Given the description of an element on the screen output the (x, y) to click on. 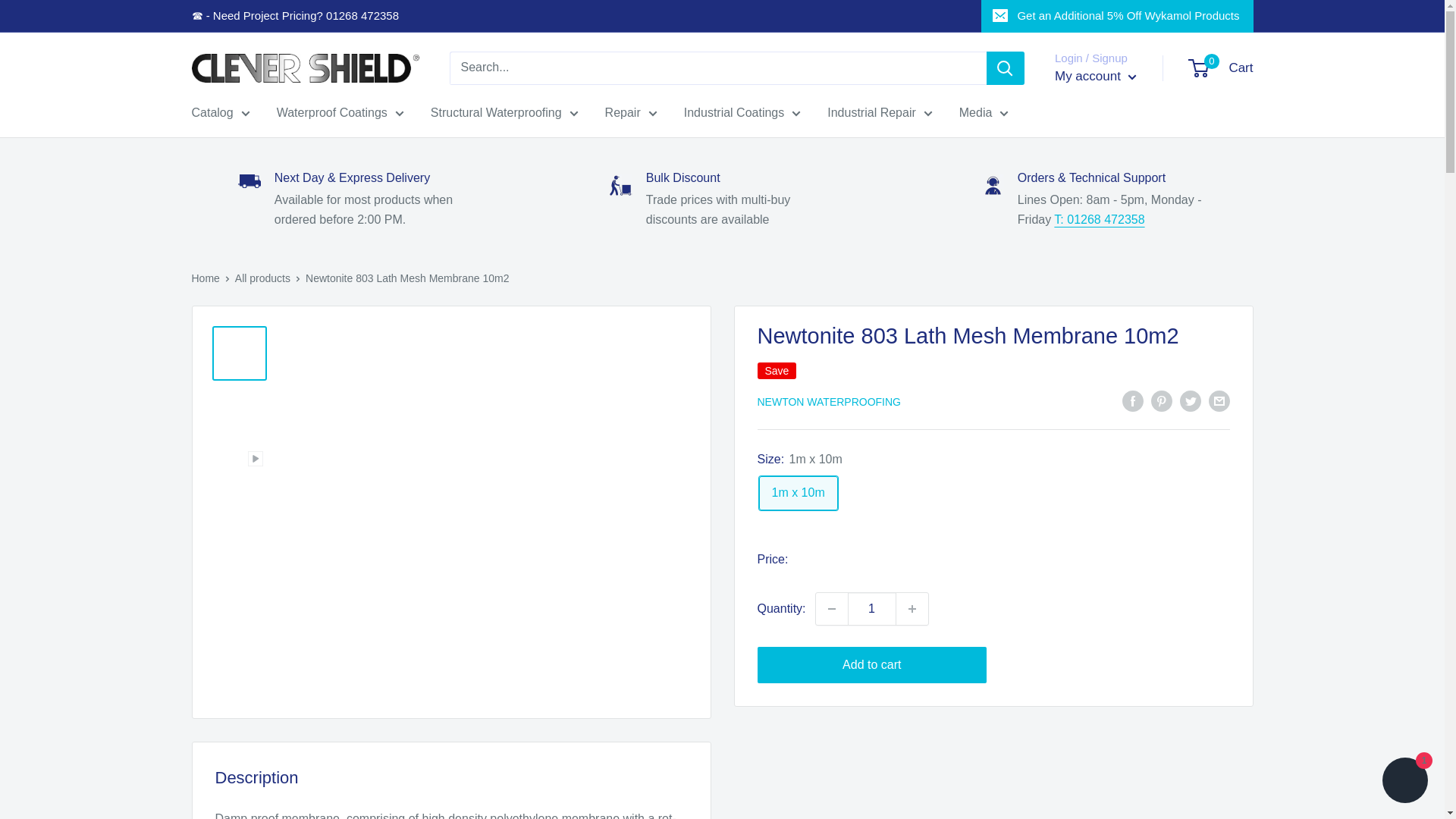
1 (871, 608)
tel:01268472358 (1099, 219)
Decrease quantity by 1 (831, 608)
Increase quantity by 1 (912, 608)
1m x 10m (797, 492)
